Given the description of an element on the screen output the (x, y) to click on. 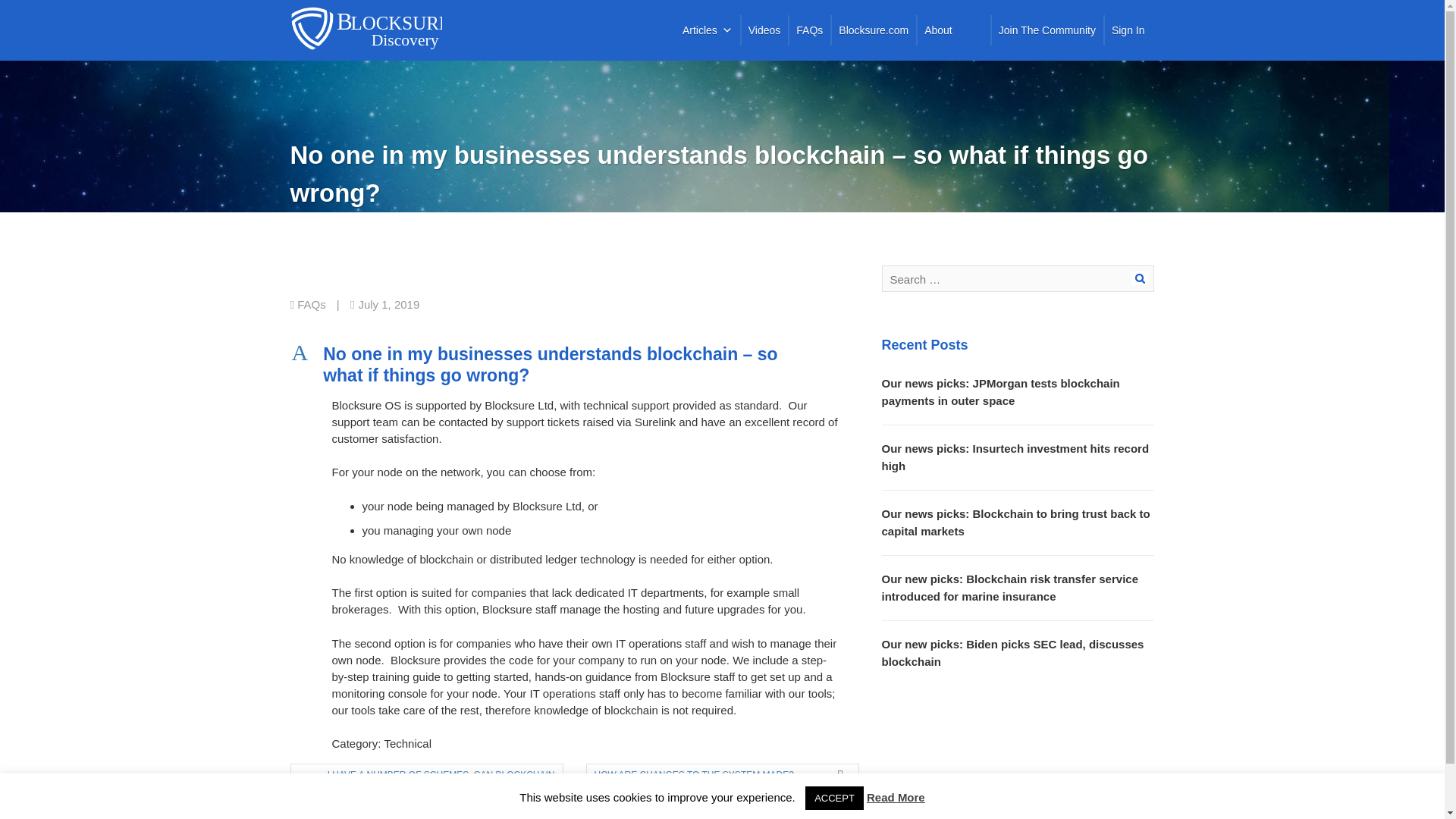
Search (1140, 278)
Articles (707, 30)
Our new picks: Biden picks SEC lead, discusses blockchain (1011, 653)
HOW ARE CHANGES TO THE SYSTEM MADE? (714, 774)
About (938, 30)
Our news picks: Insurtech investment hits record high (1014, 457)
Videos (765, 30)
Join The Community (1047, 30)
